Given the description of an element on the screen output the (x, y) to click on. 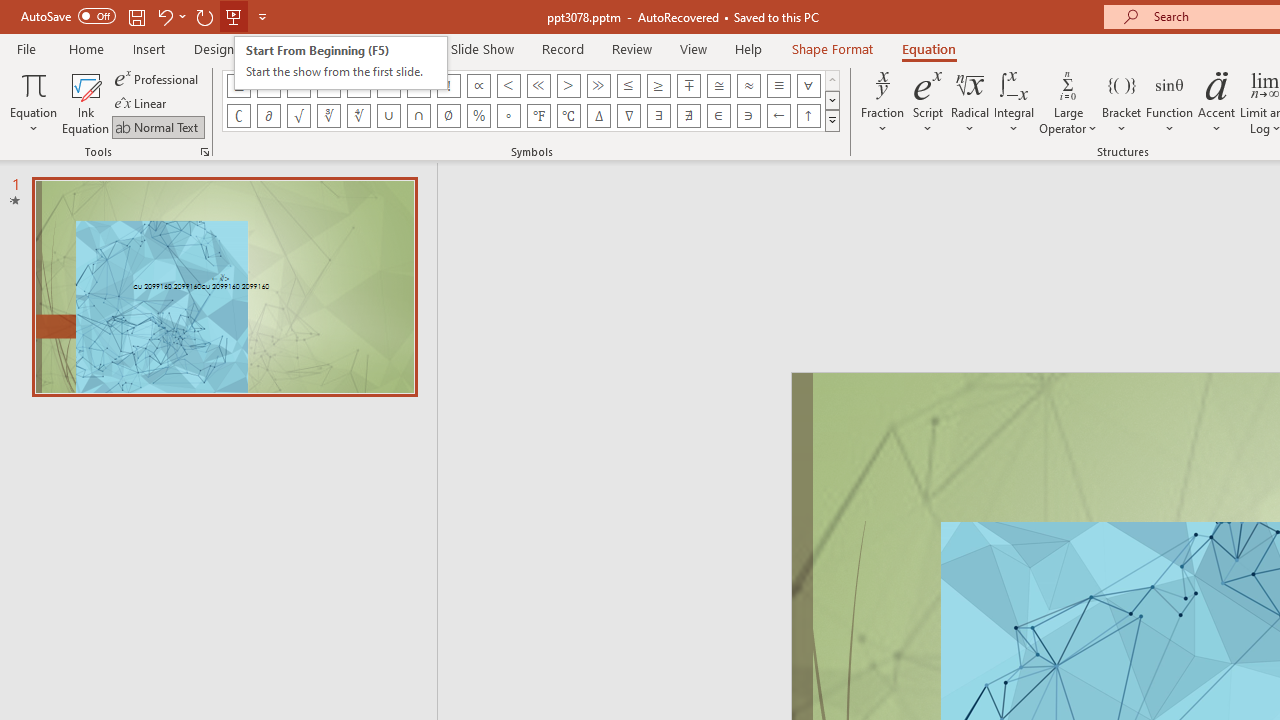
Ink Equation (86, 102)
Bracket (1121, 102)
Large Operator (1067, 102)
Equation Symbol Percentage (478, 115)
Equation Symbols (832, 120)
Equation Symbol Degrees Fahrenheit (538, 115)
Equation Symbol For All (808, 85)
Equation Symbol Cube Root (328, 115)
AutomationID: EquationSymbolsInsertGallery (532, 100)
Equation Symbol Not Equal To (328, 85)
